Given the description of an element on the screen output the (x, y) to click on. 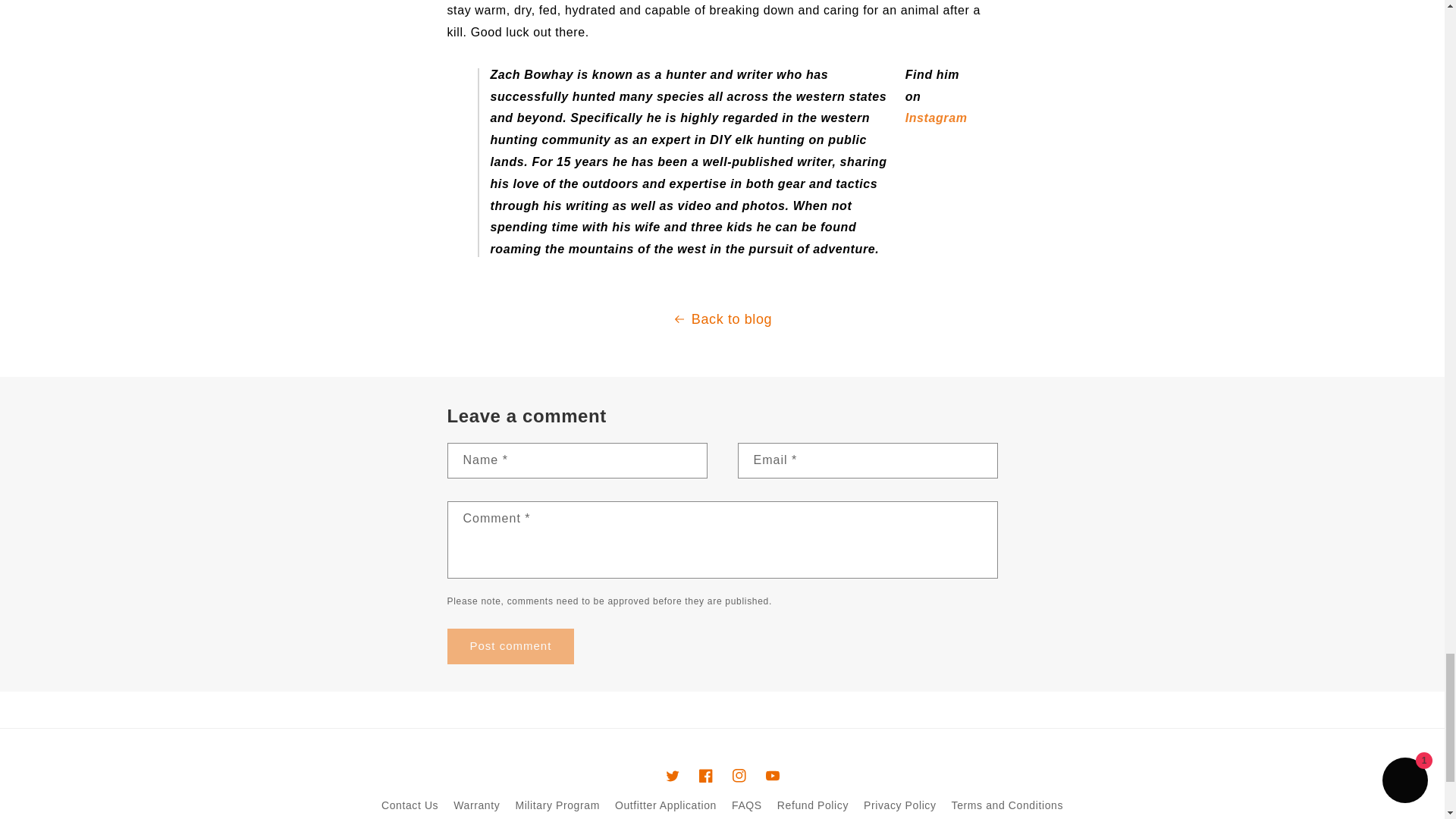
Post comment (510, 646)
